Given the description of an element on the screen output the (x, y) to click on. 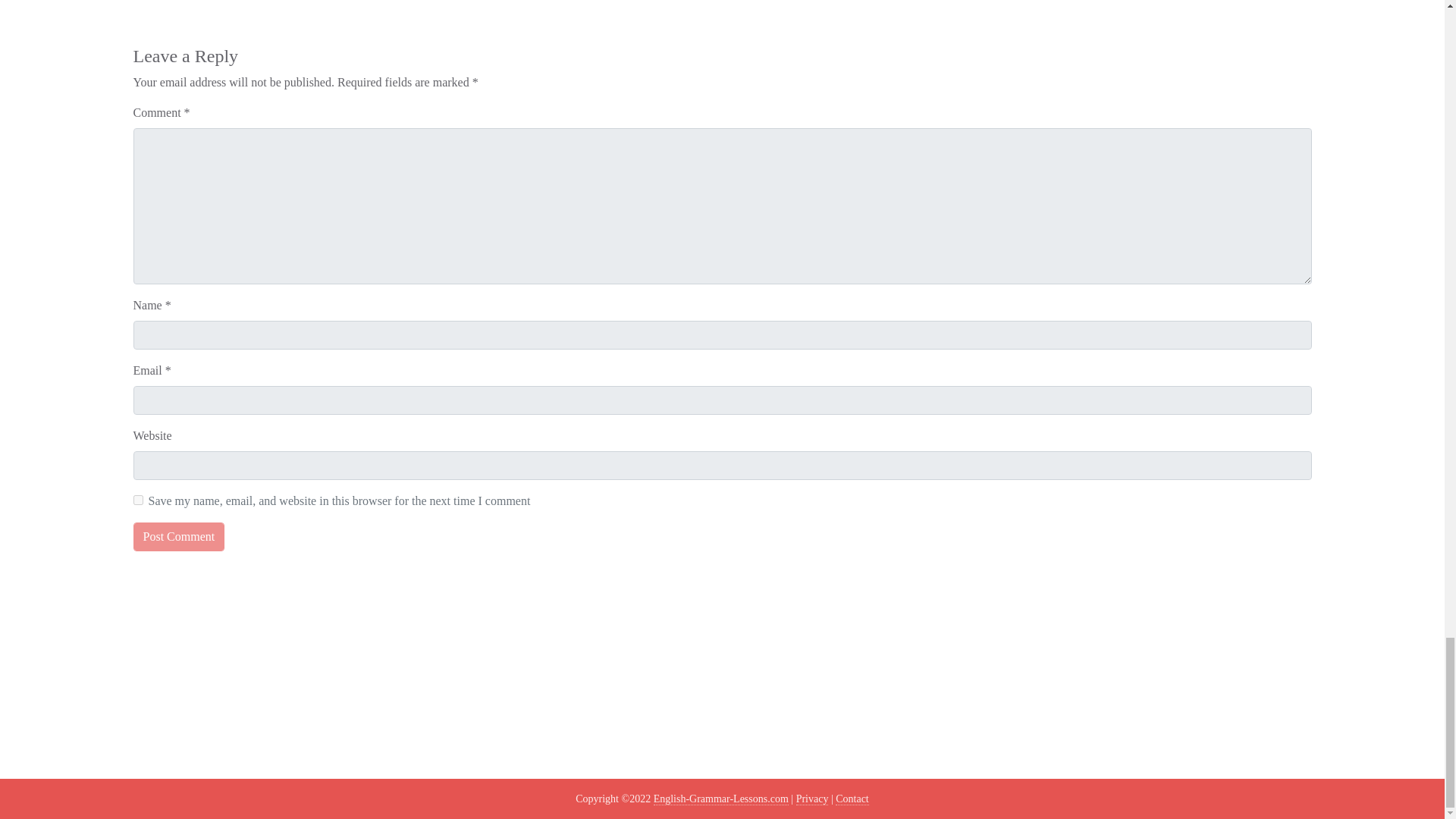
yes (137, 500)
Post Comment (179, 536)
English-Grammar-Lessons.com (721, 799)
Contact (852, 799)
Post Comment (179, 536)
Privacy (812, 799)
